Given the description of an element on the screen output the (x, y) to click on. 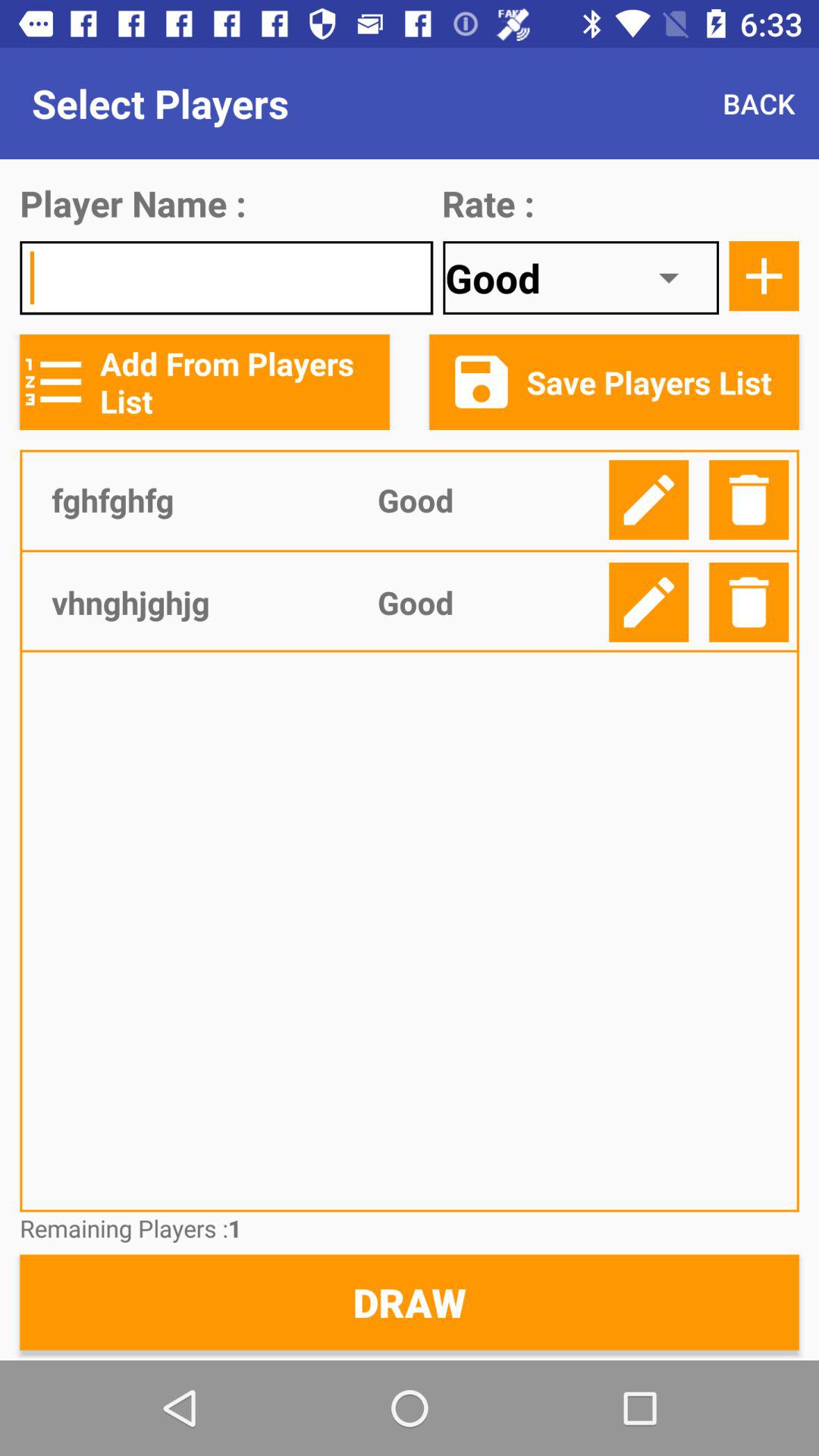
delete (748, 499)
